Given the description of an element on the screen output the (x, y) to click on. 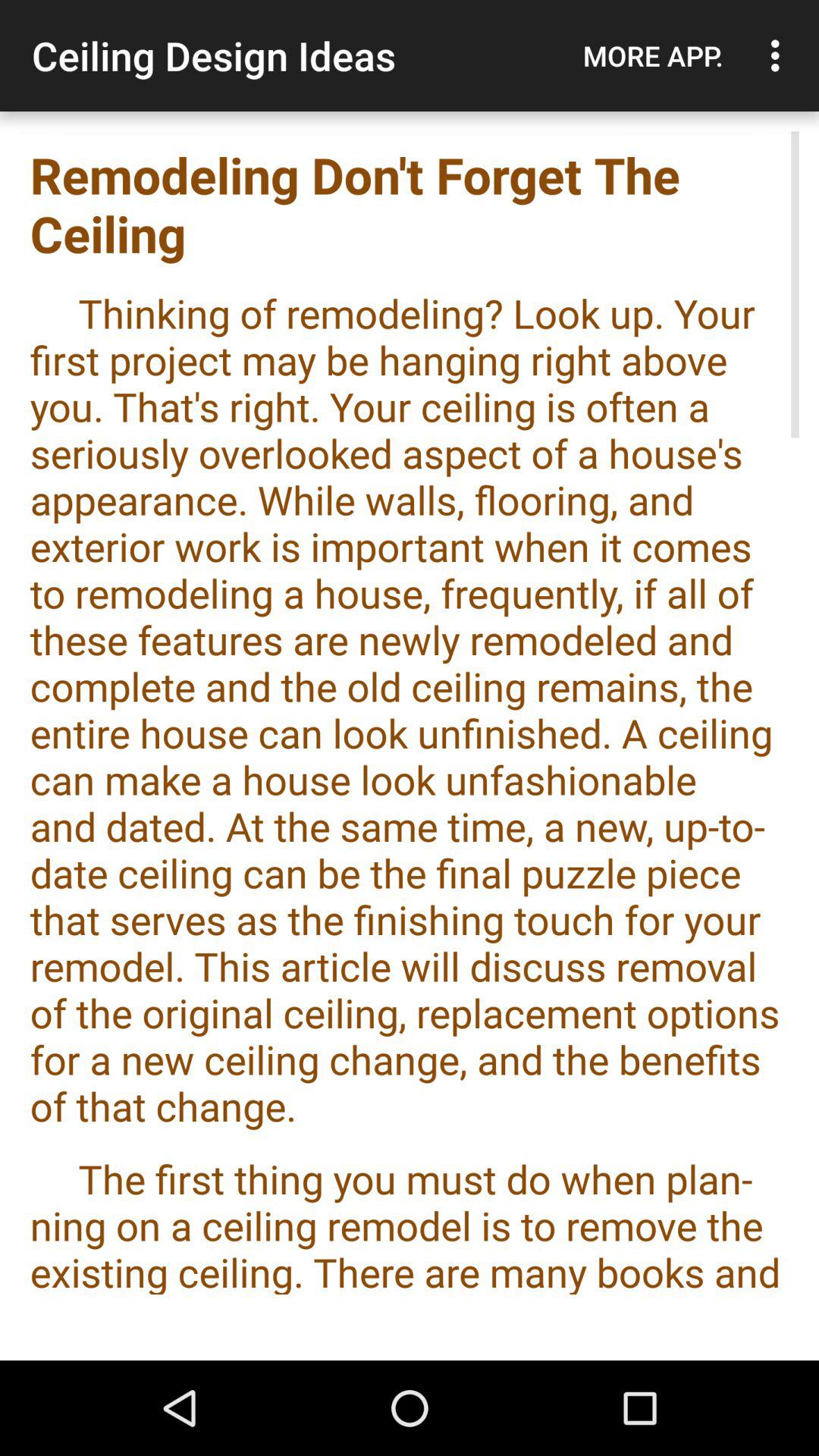
press icon to the right of more app. icon (779, 55)
